Given the description of an element on the screen output the (x, y) to click on. 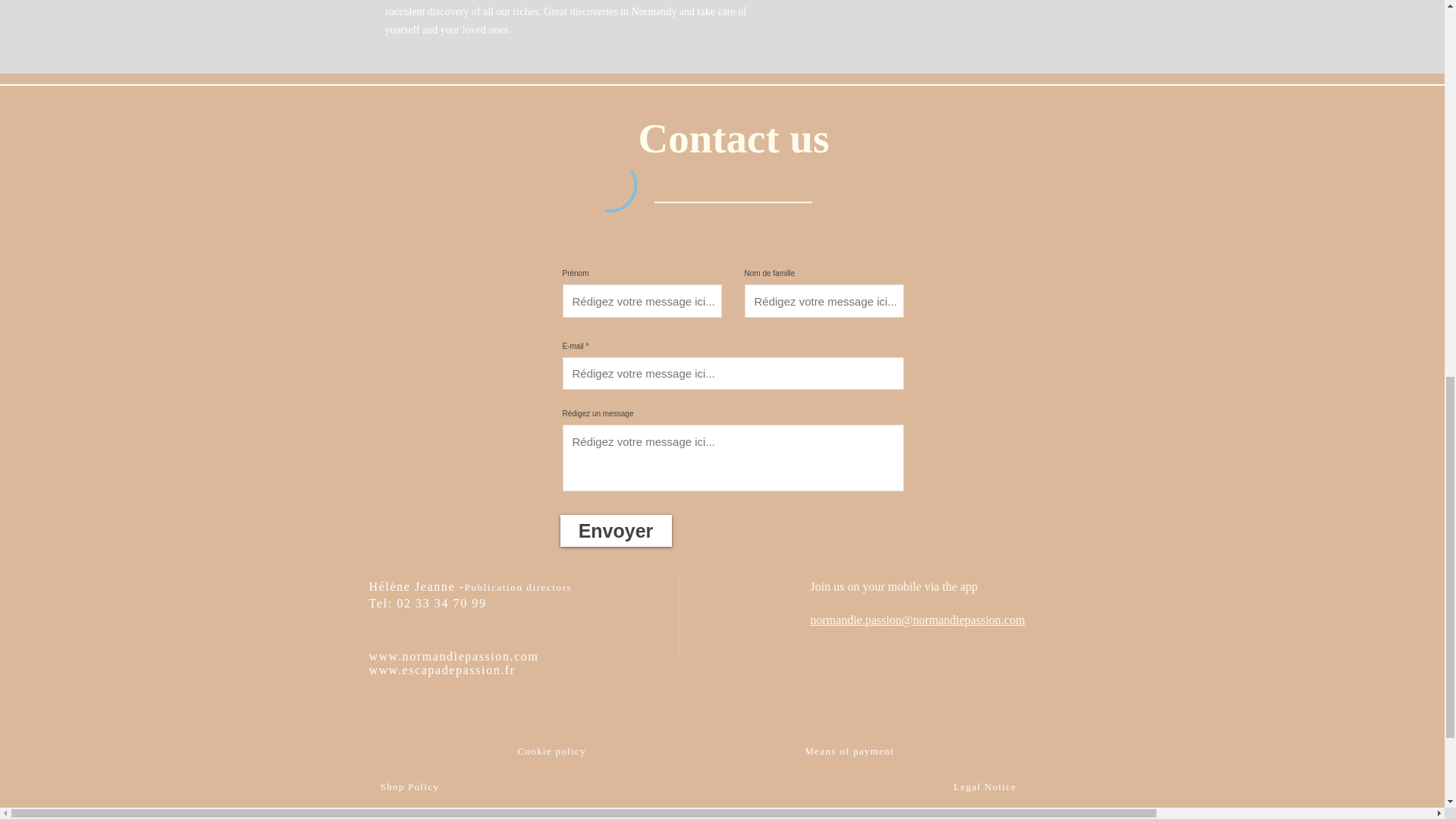
Cookie policy (550, 749)
Shop Policy (409, 786)
Means of payment (850, 750)
www.escapadepassion.fr (441, 669)
Legal Notice (984, 785)
Envoyer (615, 531)
www.normandiepassion.com (453, 656)
